Given the description of an element on the screen output the (x, y) to click on. 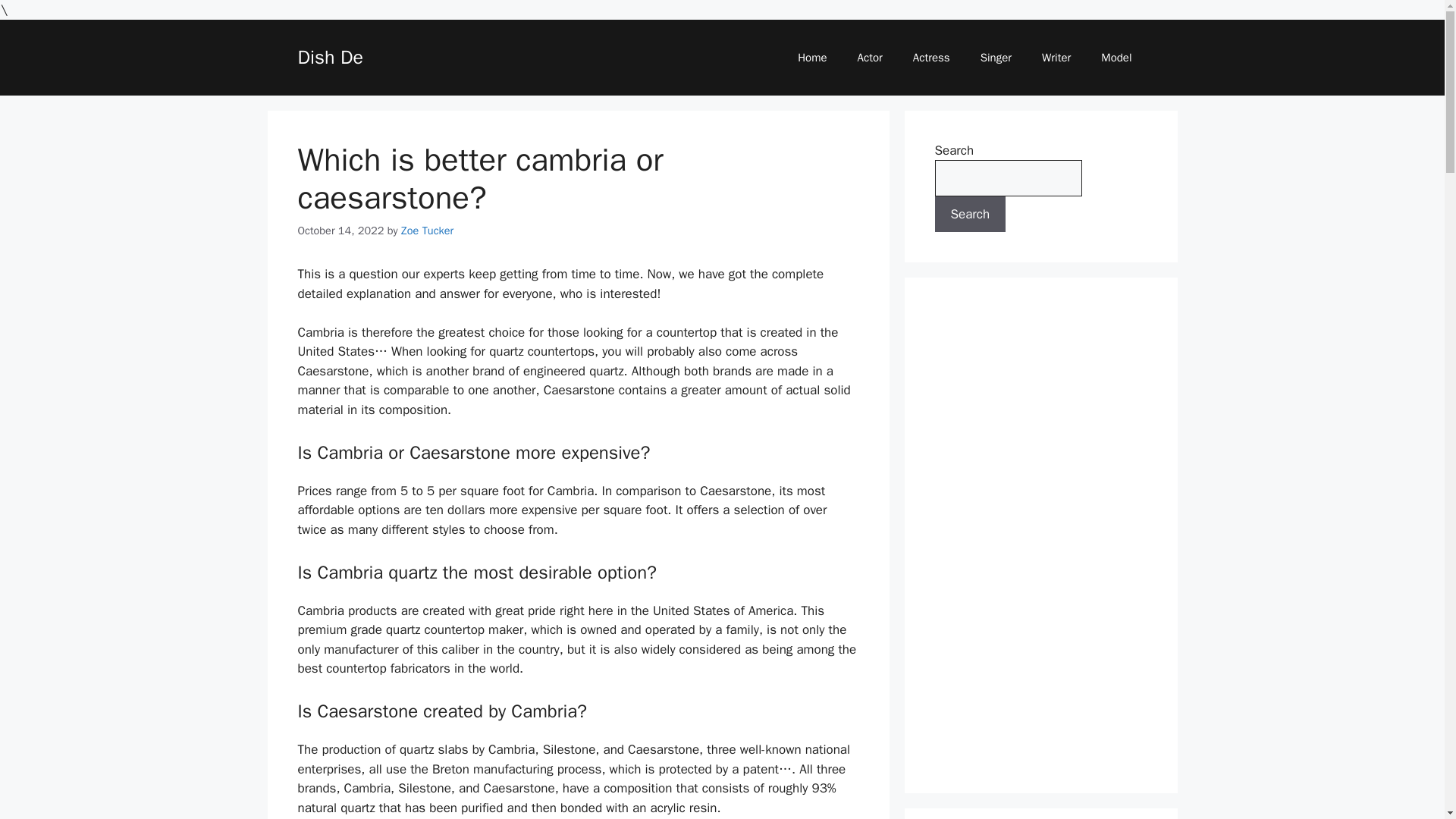
View all posts by Zoe Tucker (426, 229)
Dish De (329, 56)
Model (1116, 57)
Zoe Tucker (426, 229)
Singer (995, 57)
Actress (931, 57)
Actor (870, 57)
Home (812, 57)
Writer (1056, 57)
Search (970, 213)
